Given the description of an element on the screen output the (x, y) to click on. 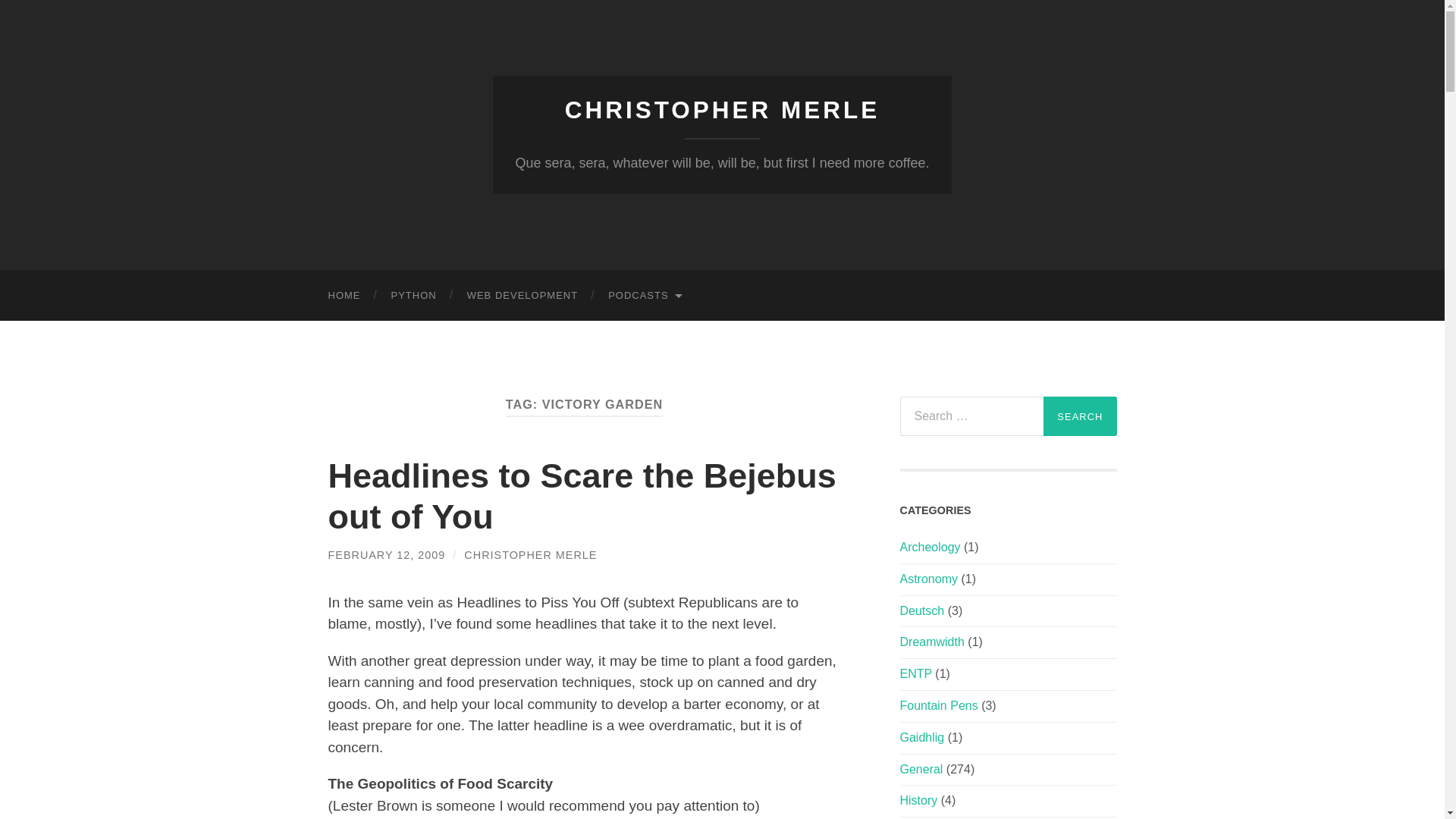
Deutsch (921, 610)
PYTHON (413, 295)
FEBRUARY 12, 2009 (386, 554)
Posts by Christopher Merle (530, 554)
Search (1079, 415)
Search (1079, 415)
ENTP (915, 673)
General (920, 768)
Dreamwidth (931, 641)
HOME (344, 295)
CHRISTOPHER MERLE (722, 109)
CHRISTOPHER MERLE (530, 554)
Search (1079, 415)
Astronomy (927, 578)
History (918, 799)
